Given the description of an element on the screen output the (x, y) to click on. 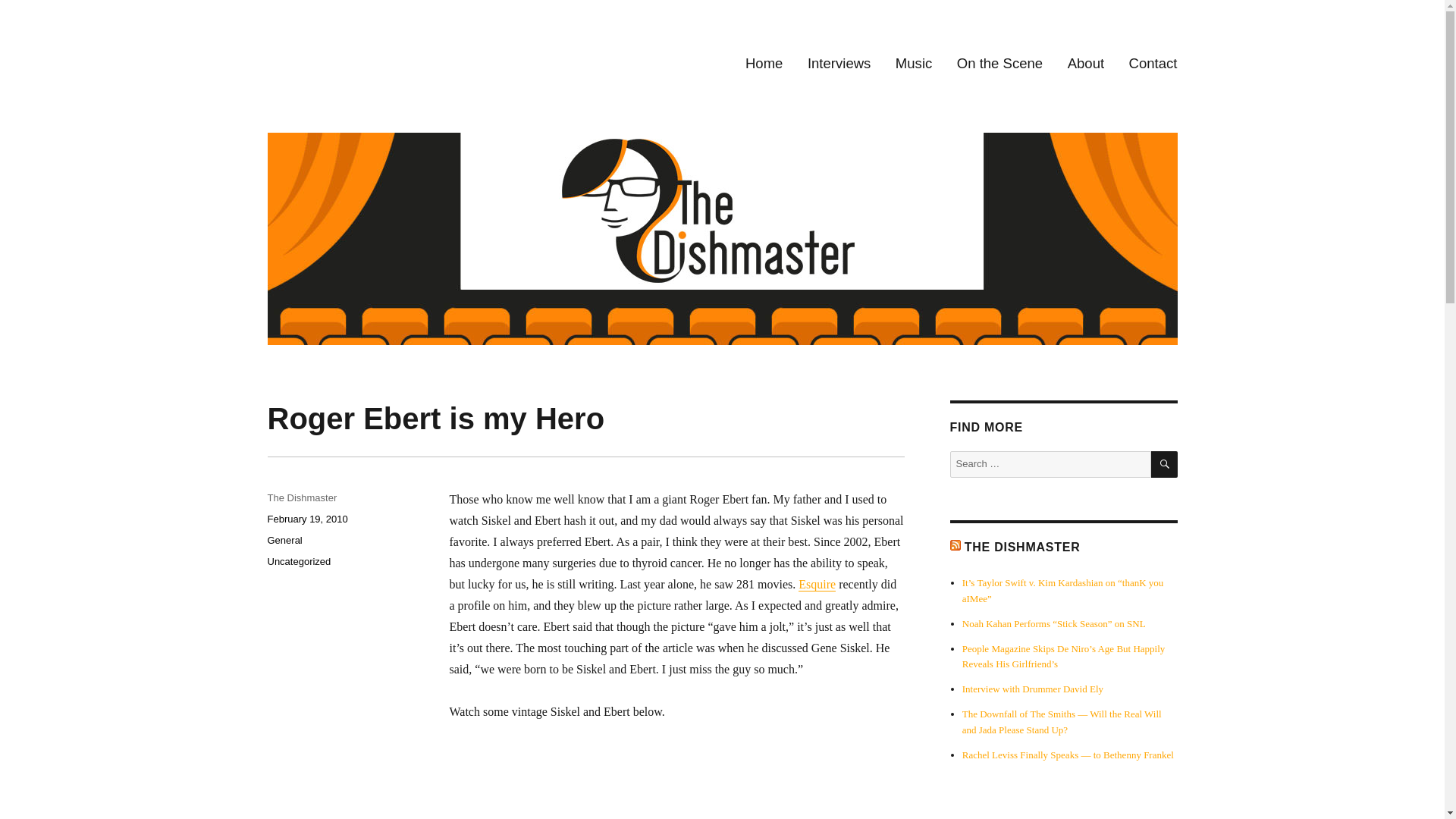
Uncategorized (298, 561)
On the Scene (999, 63)
February 19, 2010 (306, 518)
Interview with Drummer David Ely (1032, 688)
SEARCH (1164, 464)
THE DISHMASTER (1021, 546)
Contact (1152, 63)
The Dishmaster (346, 50)
The Dishmaster (301, 497)
Esquire (816, 584)
